Given the description of an element on the screen output the (x, y) to click on. 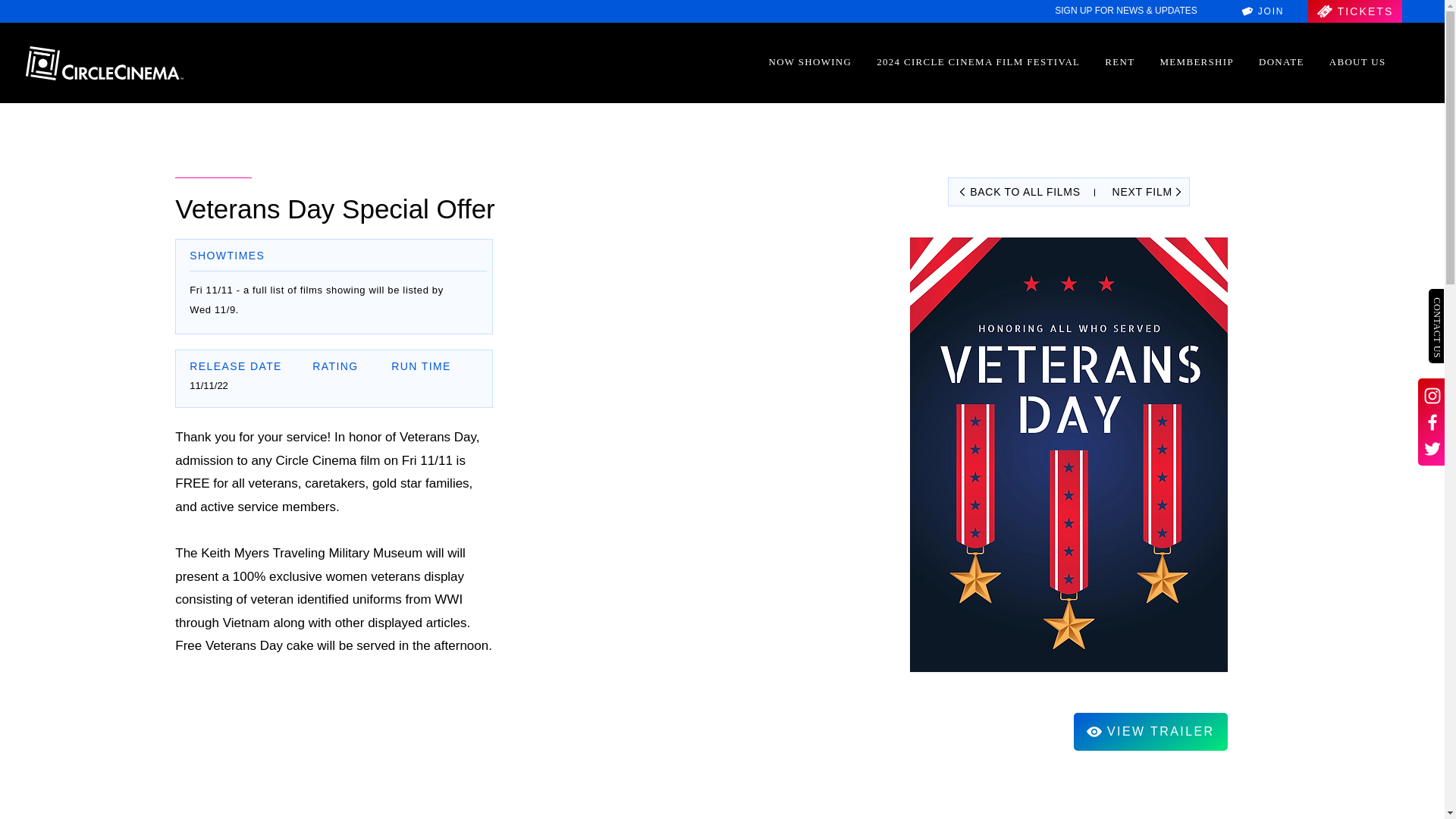
NOW SHOWING (809, 62)
BACK TO ALL FILMS (1017, 190)
MEMBERSHIP (1196, 62)
NEXT FILM (1145, 190)
2024 CIRCLE CINEMA FILM FESTIVAL (978, 62)
TICKETS (1354, 11)
JOIN (1261, 11)
DONATE (1281, 62)
VIEW TRAILER (1150, 731)
RENT (1120, 62)
ABOUT US (1356, 62)
